Given the description of an element on the screen output the (x, y) to click on. 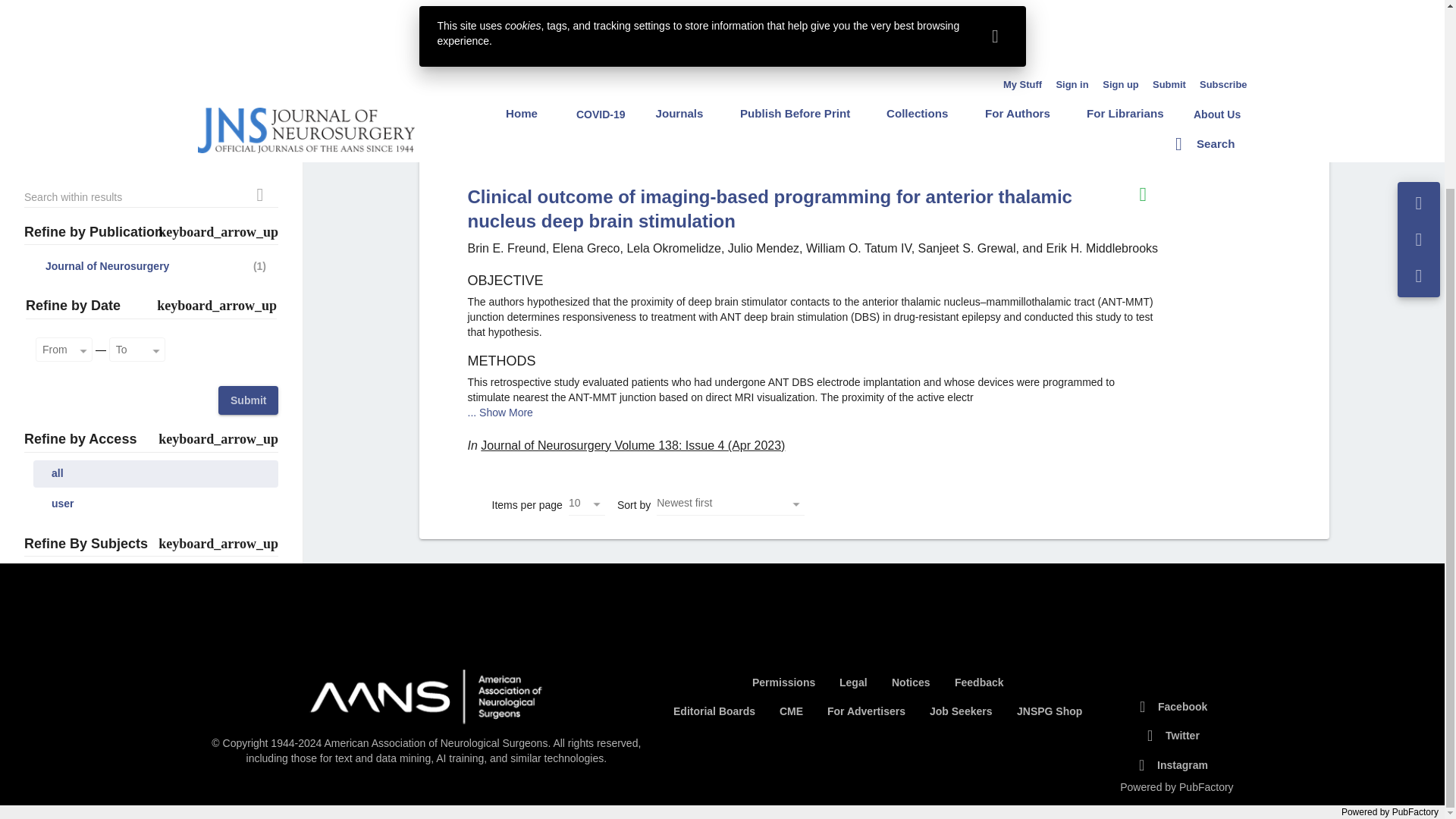
Submit (248, 164)
Email this link (1418, 11)
user (155, 268)
